Given the description of an element on the screen output the (x, y) to click on. 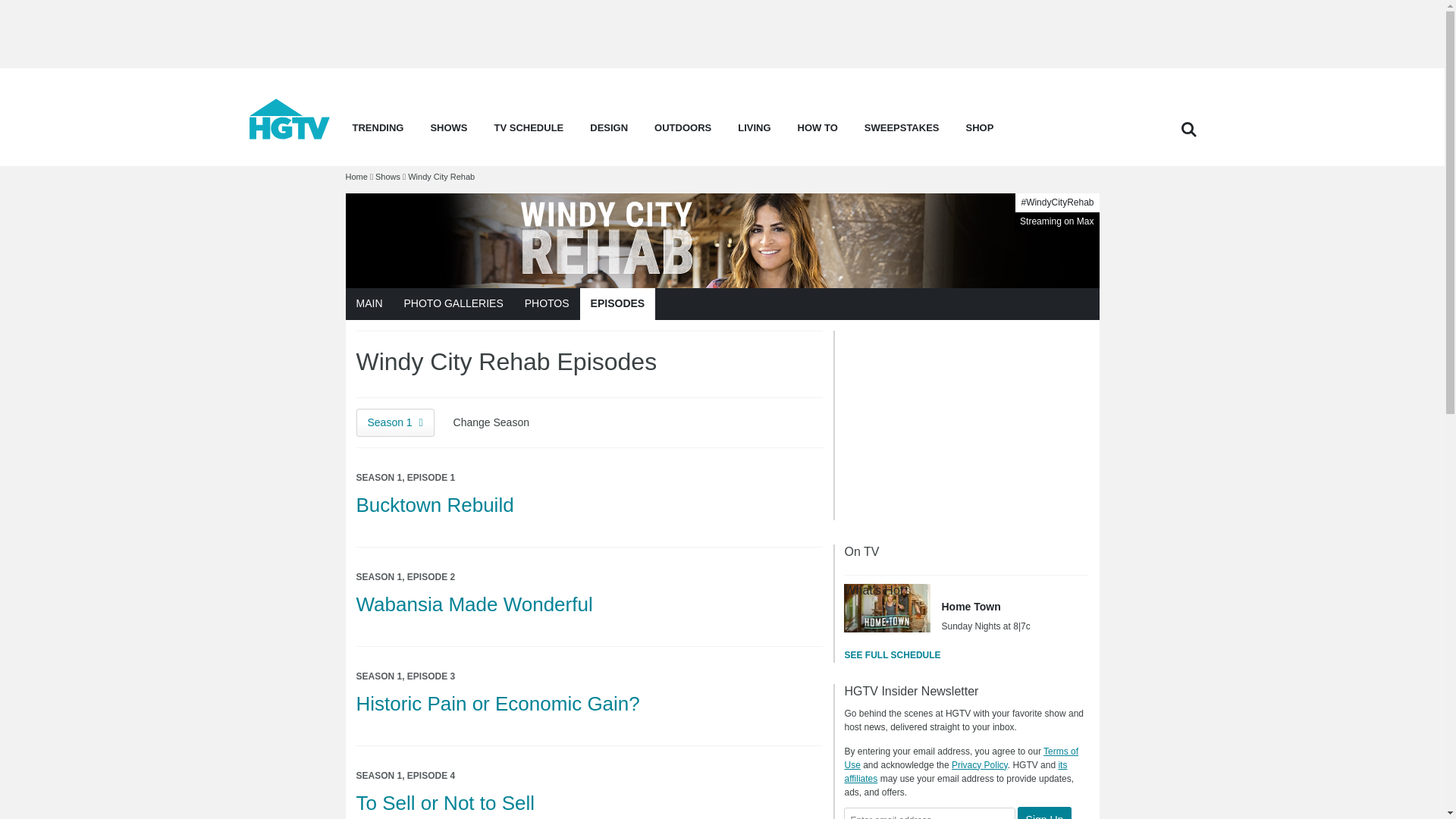
home (289, 135)
Home Town (887, 607)
